Given the description of an element on the screen output the (x, y) to click on. 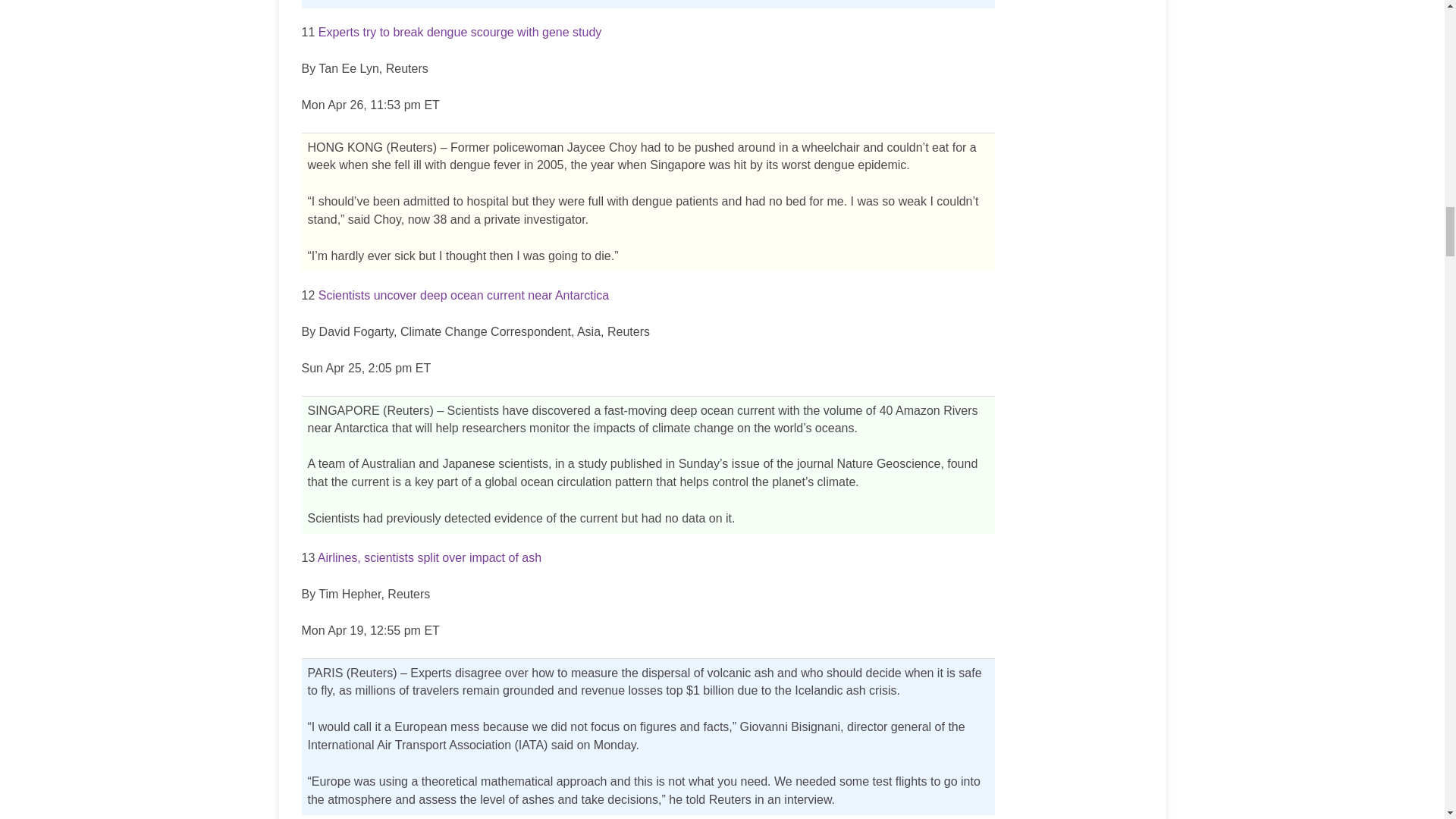
Scientists uncover deep ocean current near Antarctica (463, 295)
Experts try to break dengue scourge with gene study (460, 31)
Airlines, scientists split over impact of ash (429, 557)
